Given the description of an element on the screen output the (x, y) to click on. 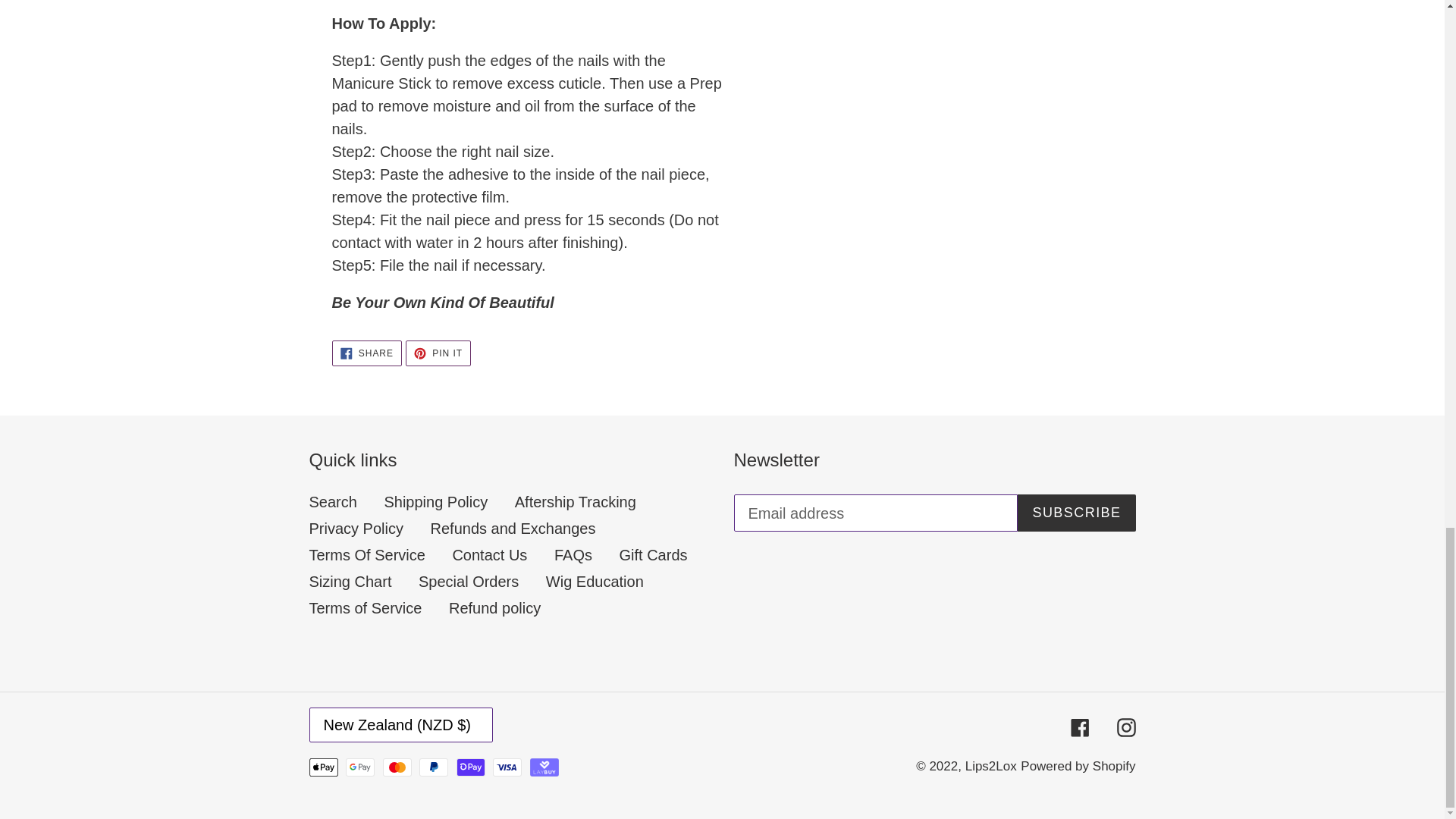
Visa (507, 767)
PayPal (433, 767)
Apple Pay (322, 767)
Google Pay (360, 767)
Shop Pay (470, 767)
Mastercard (397, 767)
